Given the description of an element on the screen output the (x, y) to click on. 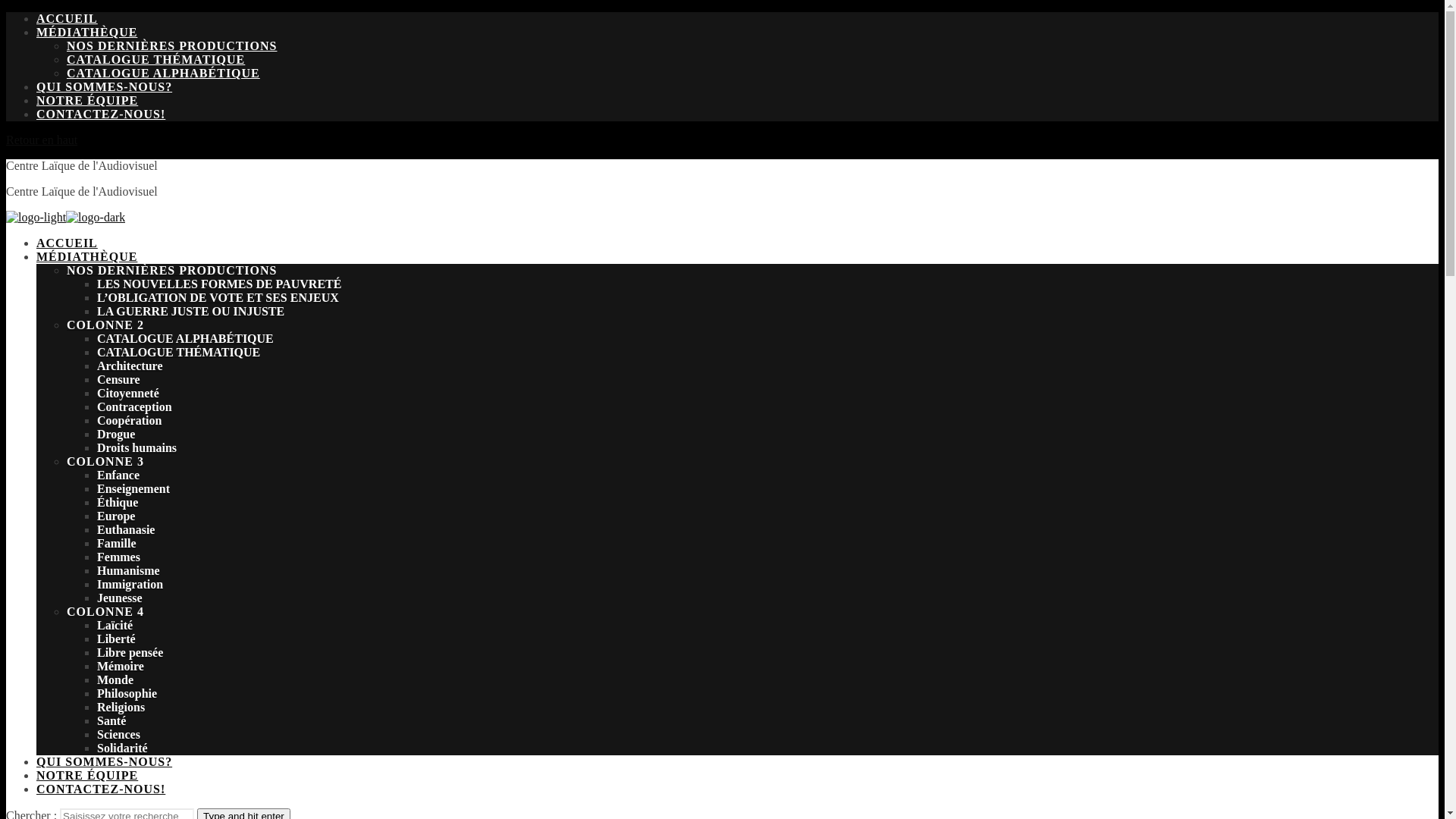
Censure Element type: text (118, 379)
LA GUERRE JUSTE OU INJUSTE Element type: text (190, 310)
ACCUEIL Element type: text (66, 242)
COLONNE 3 Element type: text (105, 461)
QUI SOMMES-NOUS? Element type: text (104, 86)
Retour en haut Element type: text (41, 139)
Immigration Element type: text (130, 583)
Jeunesse Element type: text (119, 597)
Sciences Element type: text (118, 734)
Architecture Element type: text (129, 365)
ACCUEIL Element type: text (66, 18)
Droits humains Element type: text (136, 447)
CONTACTEZ-NOUS! Element type: text (100, 788)
CONTACTEZ-NOUS! Element type: text (100, 113)
Drogue Element type: text (115, 433)
COLONNE 2 Element type: text (105, 324)
Femmes Element type: text (118, 556)
Enseignement Element type: text (133, 488)
Europe Element type: text (115, 515)
QUI SOMMES-NOUS? Element type: text (104, 761)
COLONNE 4 Element type: text (105, 611)
Contraception Element type: text (134, 406)
Monde Element type: text (115, 679)
Religions Element type: text (120, 706)
Philosophie Element type: text (126, 693)
Famille Element type: text (116, 542)
Euthanasie Element type: text (125, 529)
Humanisme Element type: text (128, 570)
Enfance Element type: text (118, 474)
